Given the description of an element on the screen output the (x, y) to click on. 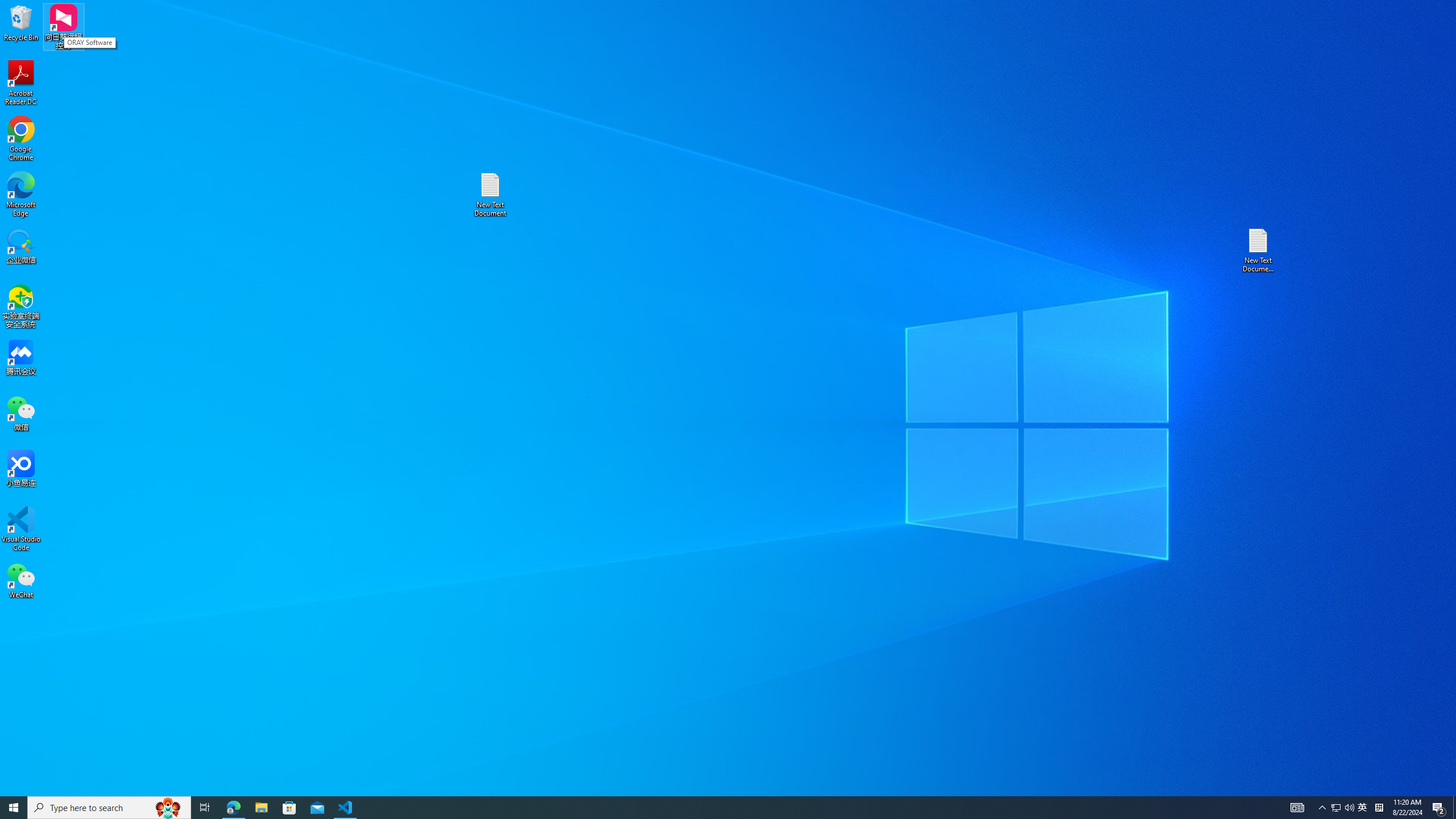
Acrobat Reader DC (21, 82)
Recycle Bin (1362, 807)
